Given the description of an element on the screen output the (x, y) to click on. 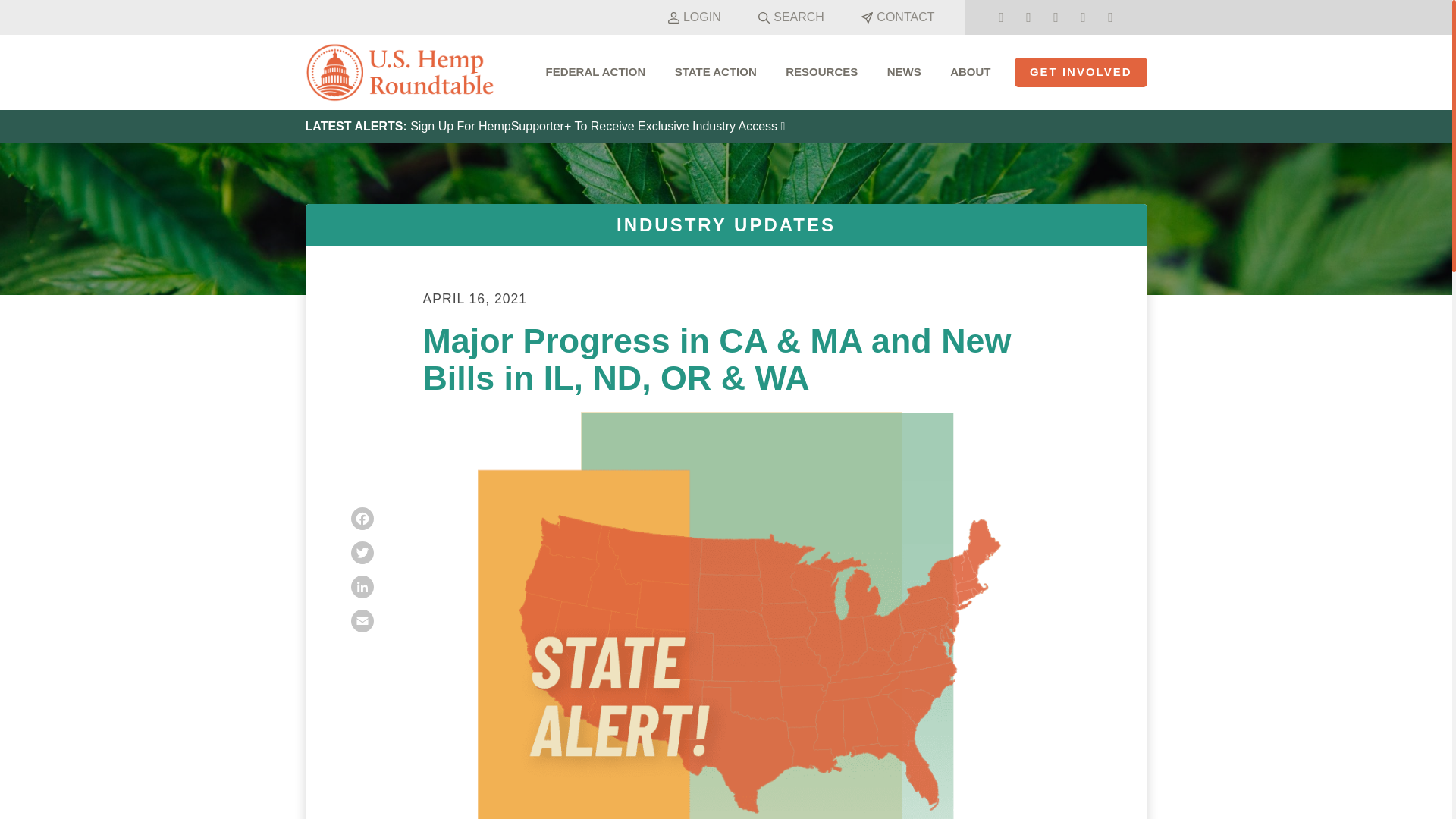
Facebook (361, 517)
LinkedIn (361, 586)
Opens in new tab (361, 517)
NEWS (904, 71)
Opens in new tab (1028, 16)
Opens in new tab (1000, 16)
Opens in new tab (1055, 16)
Twitter (361, 552)
GET INVOLVED (1080, 71)
Opens in new tab (1082, 16)
Email (361, 620)
Opens in new tab (361, 586)
LOGIN (691, 16)
CONTACT (895, 16)
RESOURCES (821, 71)
